Given the description of an element on the screen output the (x, y) to click on. 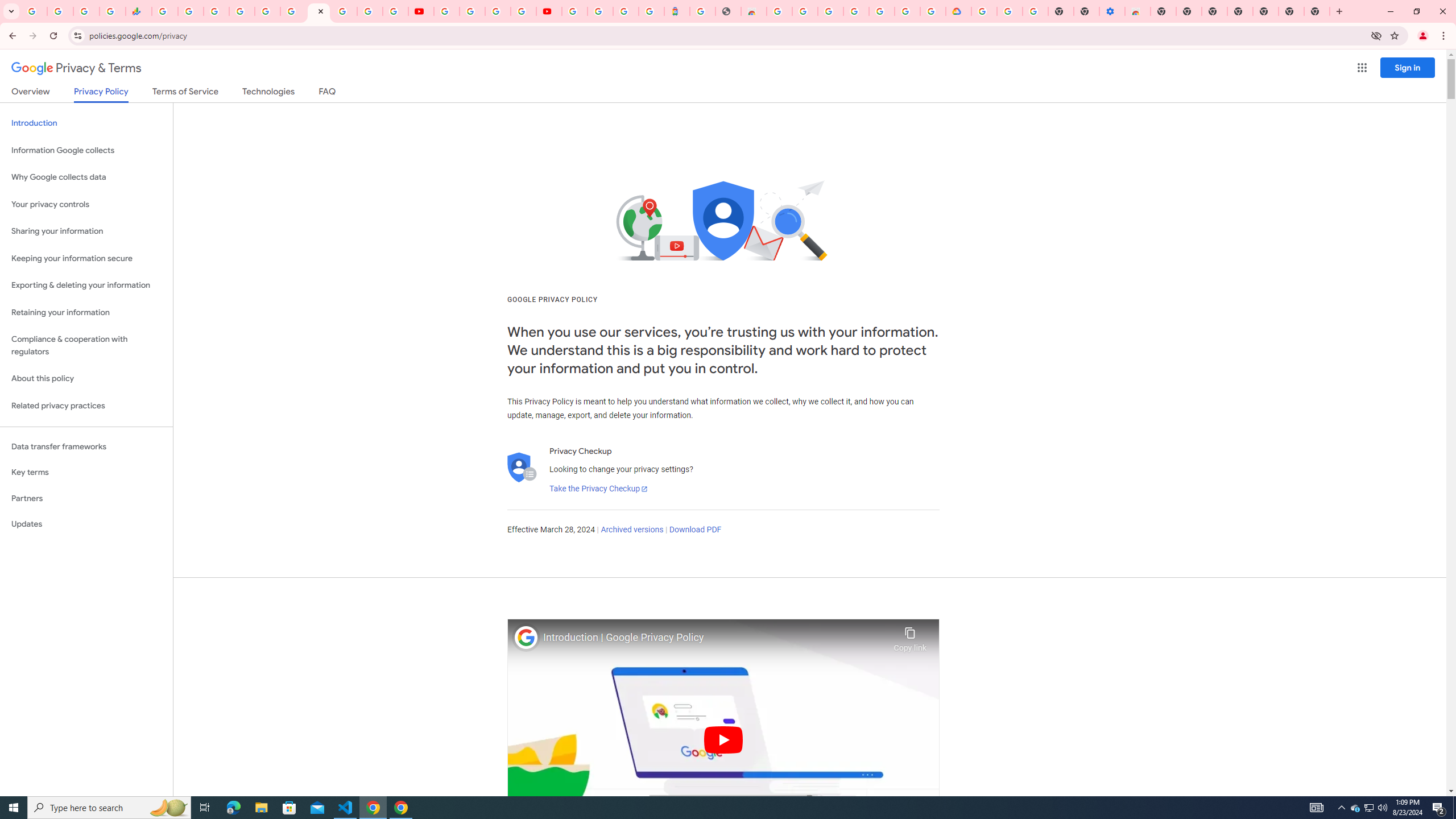
Atour Hotel - Google hotels (676, 11)
Take the Privacy Checkup (597, 488)
Chrome Web Store - Accessibility extensions (1137, 11)
Copy link (909, 636)
Settings - Accessibility (1111, 11)
Introduction | Google Privacy Policy (715, 637)
